Given the description of an element on the screen output the (x, y) to click on. 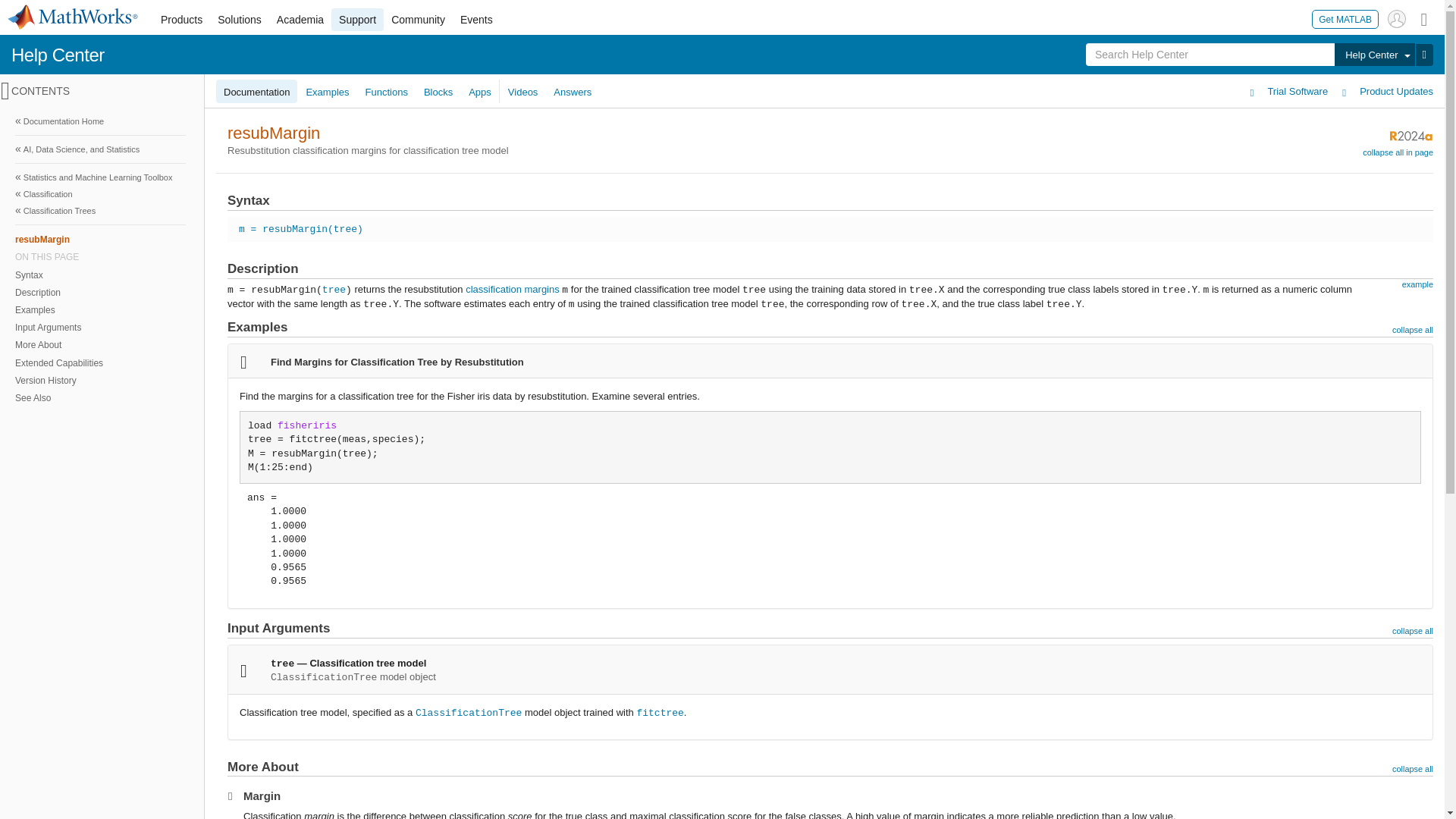
Products (180, 19)
Get MATLAB (1344, 18)
Support (357, 19)
Sign In to Your MathWorks Account (1396, 18)
resubMargin (100, 239)
Solutions (239, 19)
Community (418, 19)
Matrix Menu (1423, 18)
Events (476, 19)
